Given the description of an element on the screen output the (x, y) to click on. 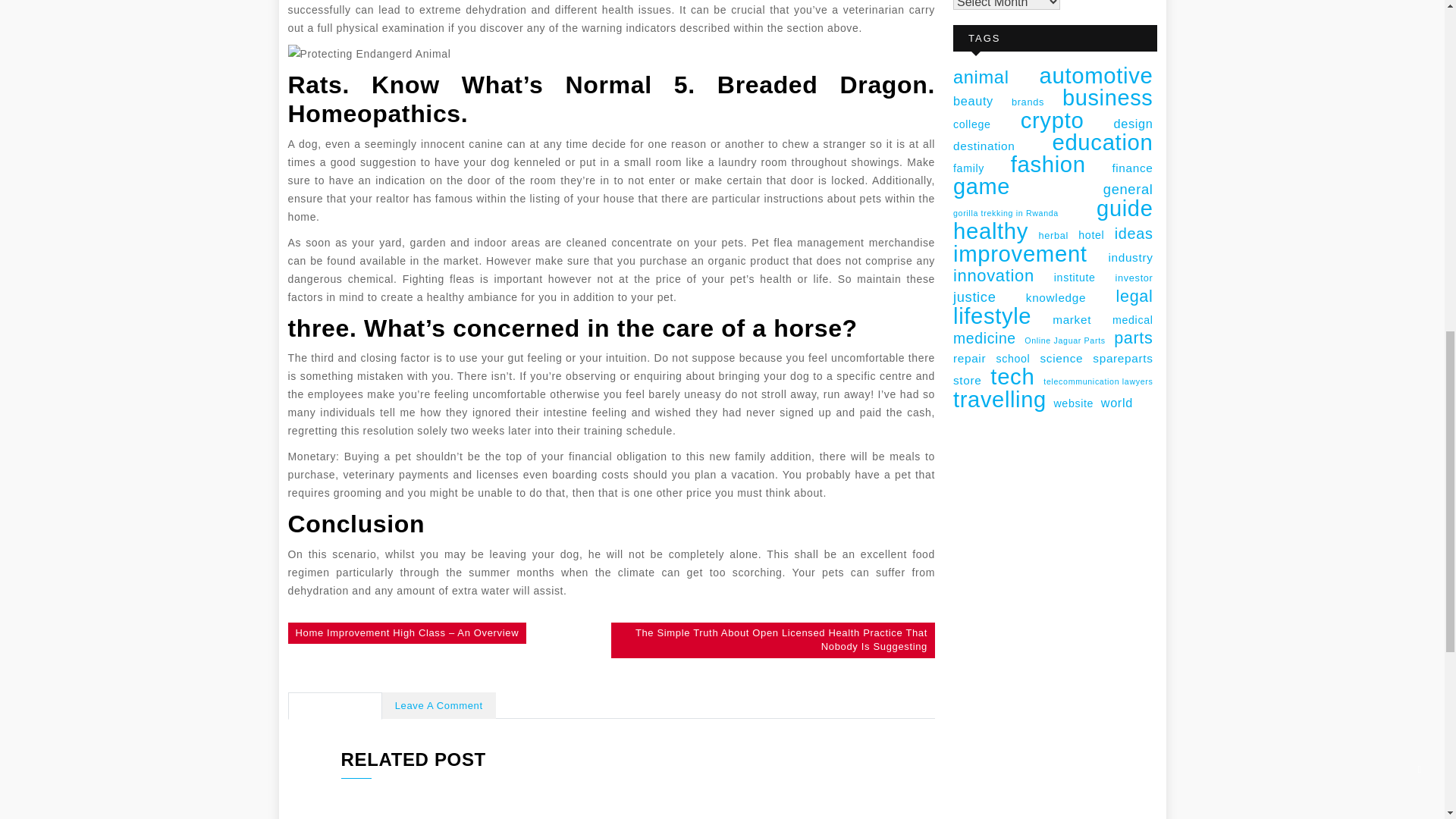
Leave A Comment (438, 706)
No Comments (334, 706)
